Given the description of an element on the screen output the (x, y) to click on. 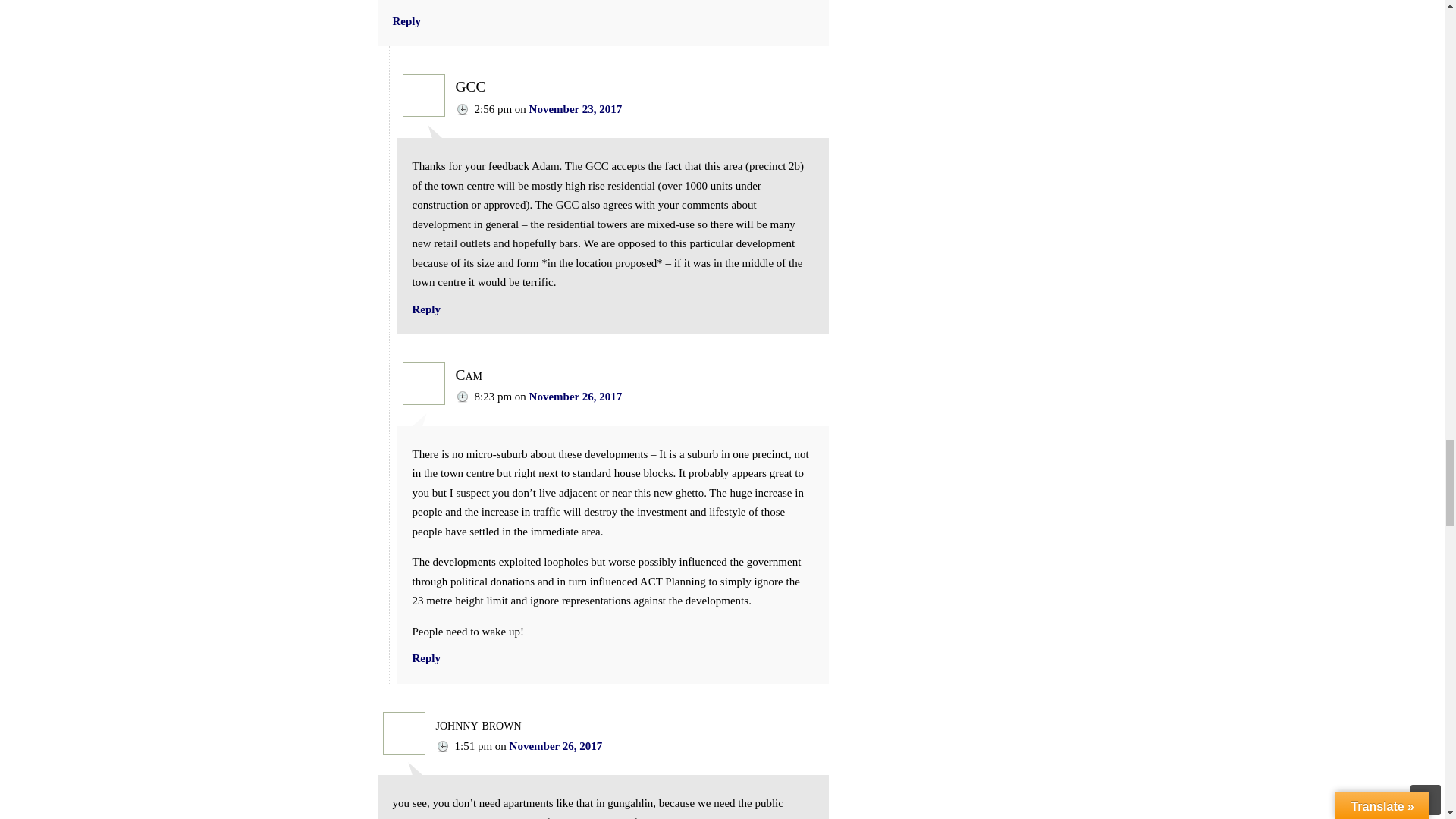
November 26, 2017 (555, 746)
November 26, 2017 (576, 396)
Reply (407, 21)
November 23, 2017 (576, 109)
November 23, 2017 (576, 109)
